Given the description of an element on the screen output the (x, y) to click on. 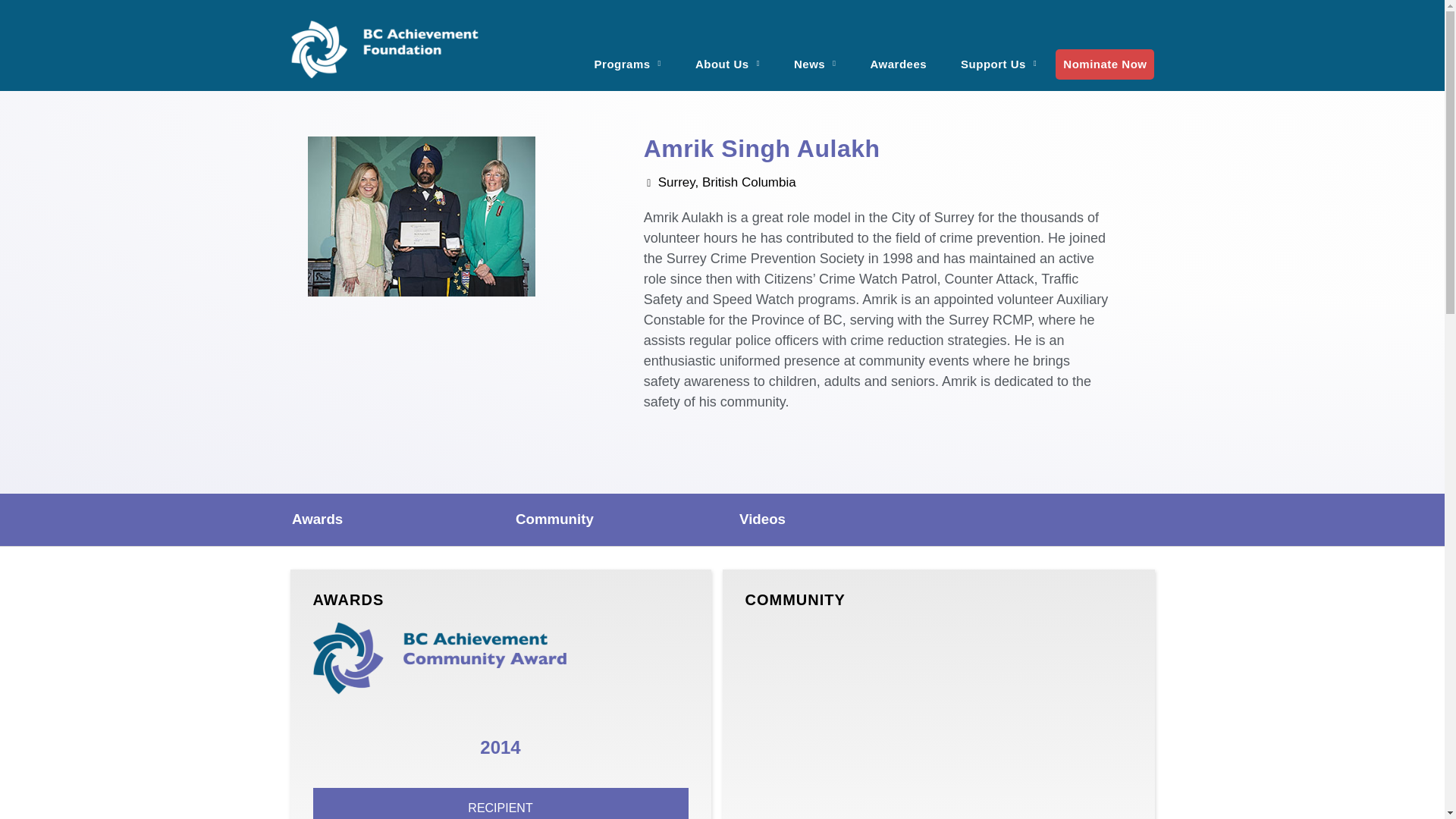
Awardees (899, 54)
Surrey (937, 720)
Support Us (997, 54)
News (814, 54)
About Us (726, 54)
Programs (628, 54)
Nominate Now (1104, 63)
